Given the description of an element on the screen output the (x, y) to click on. 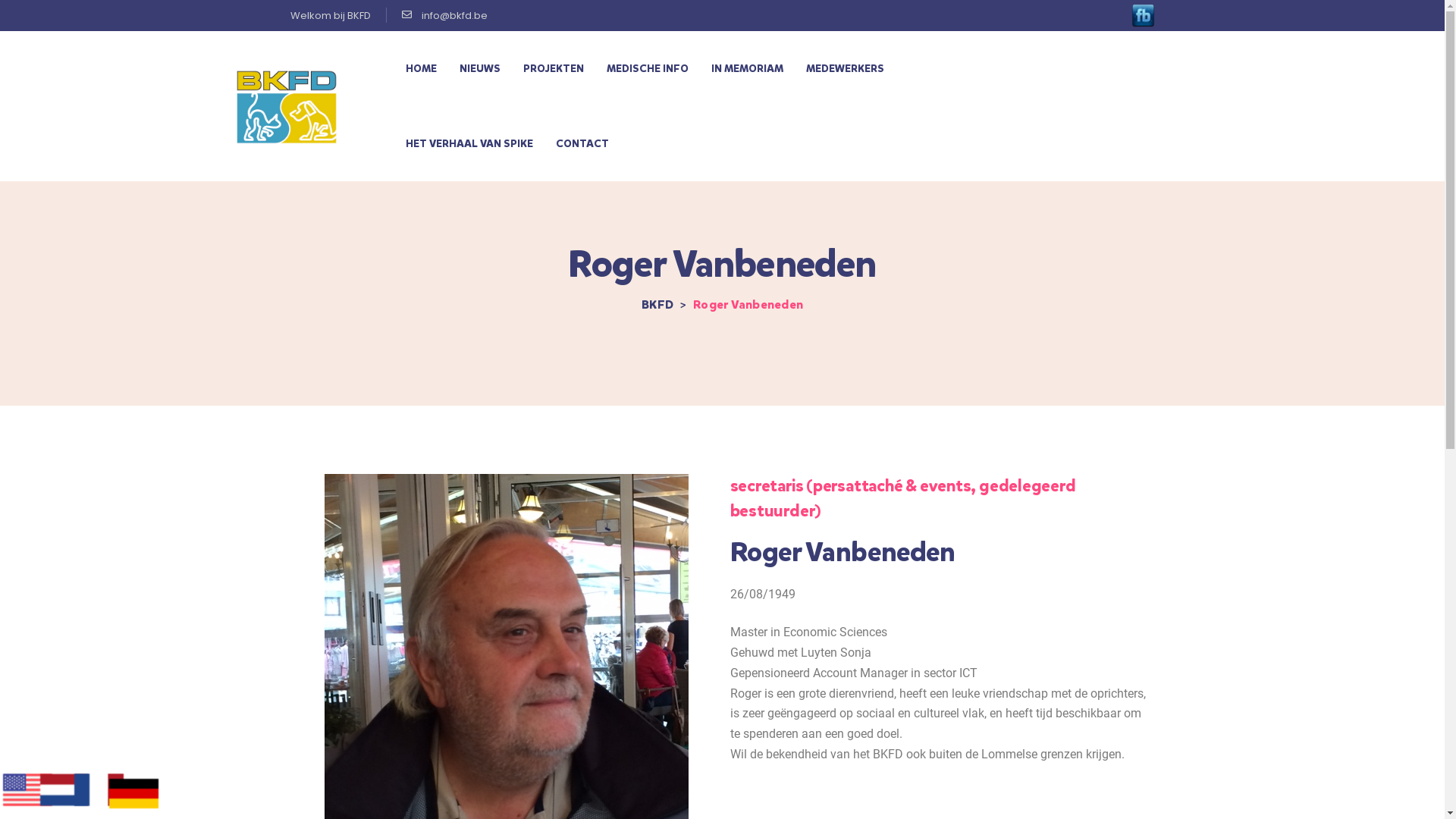
HOME Element type: text (420, 68)
MEDEWERKERS Element type: text (845, 68)
NIEUWS Element type: text (479, 68)
CONTACT Element type: text (581, 143)
HET VERHAAL VAN SPIKE Element type: text (469, 143)
PROJEKTEN Element type: text (553, 68)
MEDISCHE INFO Element type: text (647, 68)
IN MEMORIAM Element type: text (747, 68)
BKFD Element type: text (657, 304)
